Given the description of an element on the screen output the (x, y) to click on. 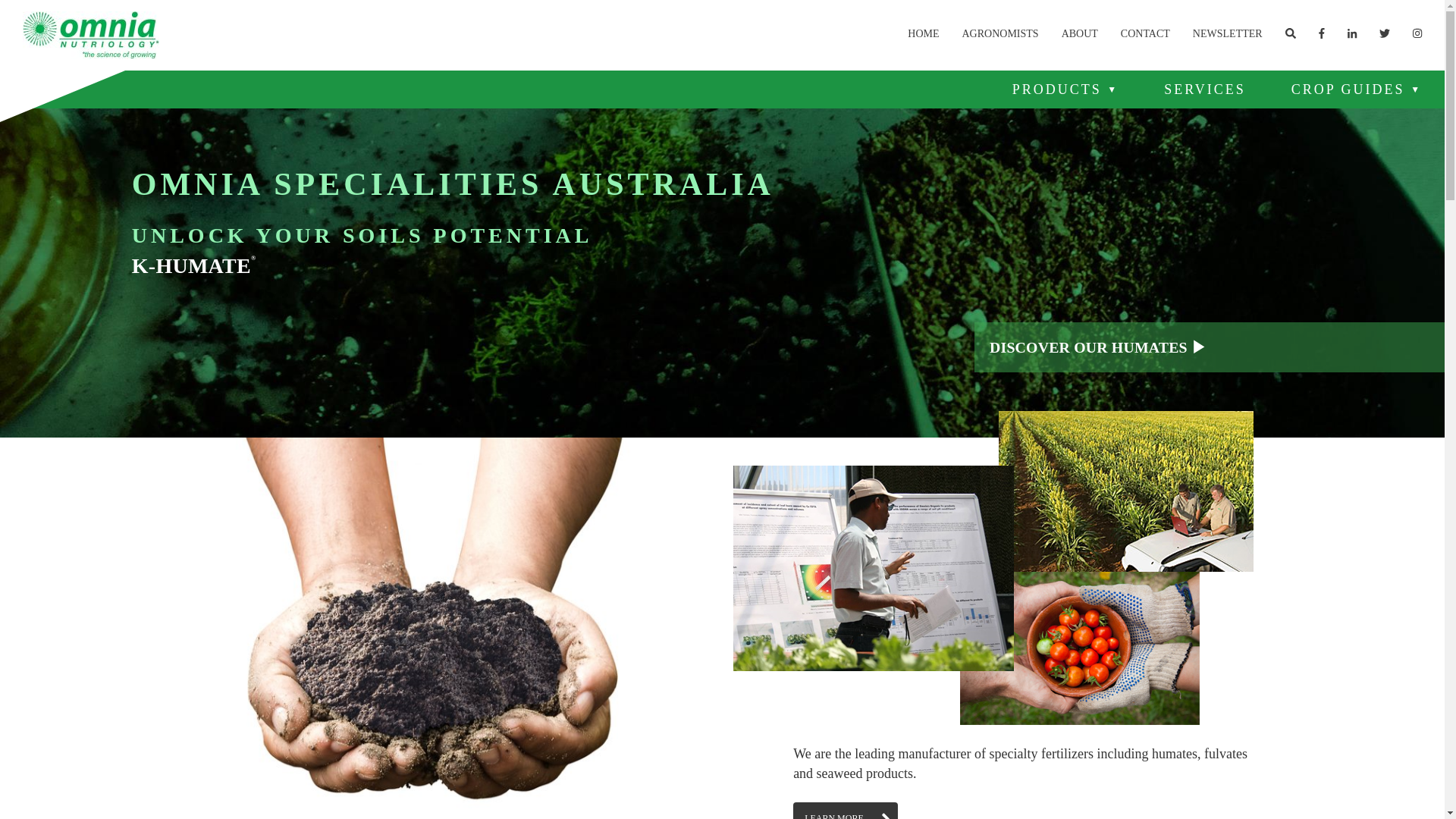
NEWSLETTER (1227, 29)
HOME (923, 29)
CONTACT (1144, 29)
AGRONOMISTS (999, 29)
ABOUT (1079, 29)
SERVICES (1205, 89)
